Given the description of an element on the screen output the (x, y) to click on. 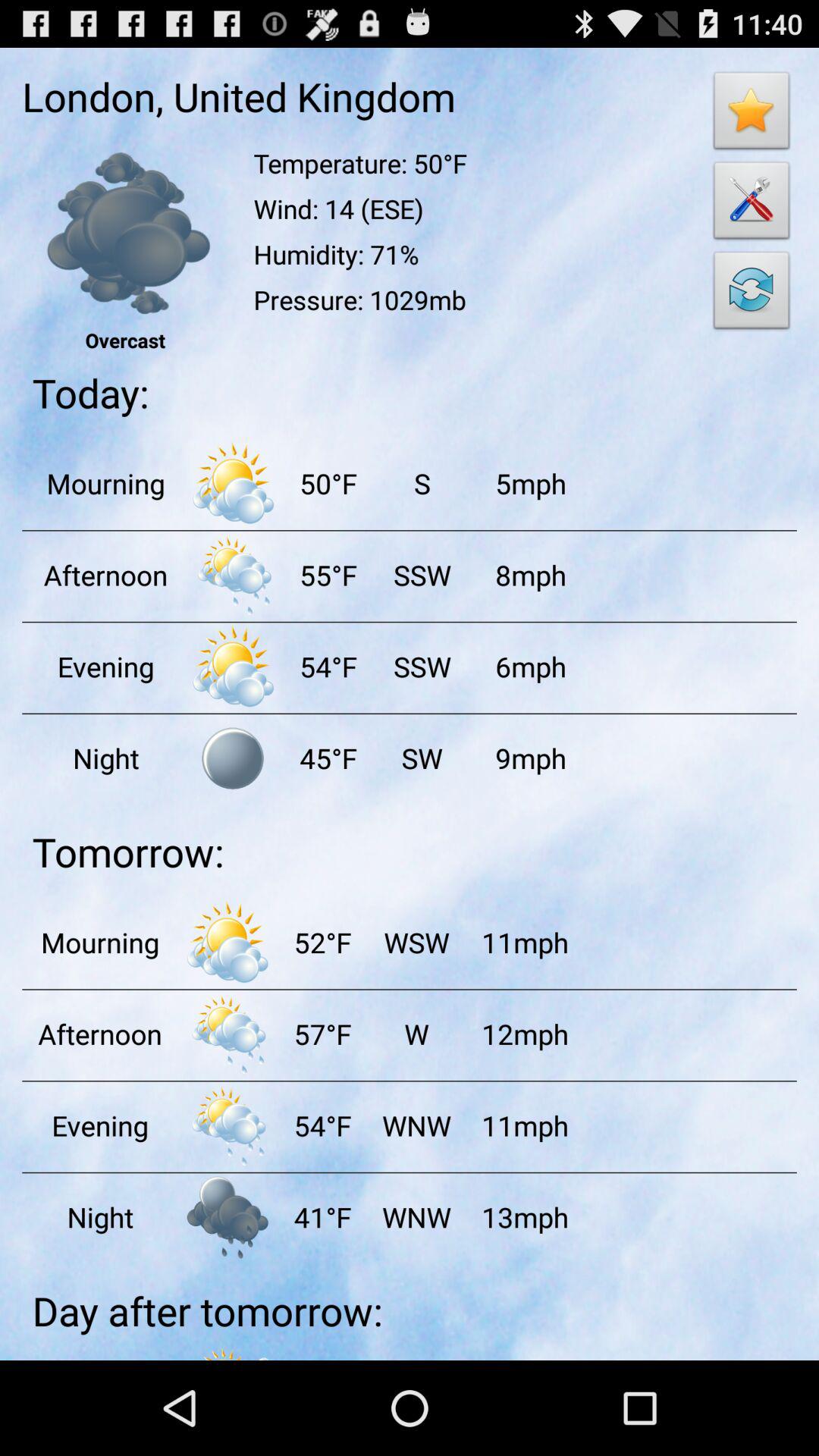
turn off the item above tomorrow: app (421, 757)
